Given the description of an element on the screen output the (x, y) to click on. 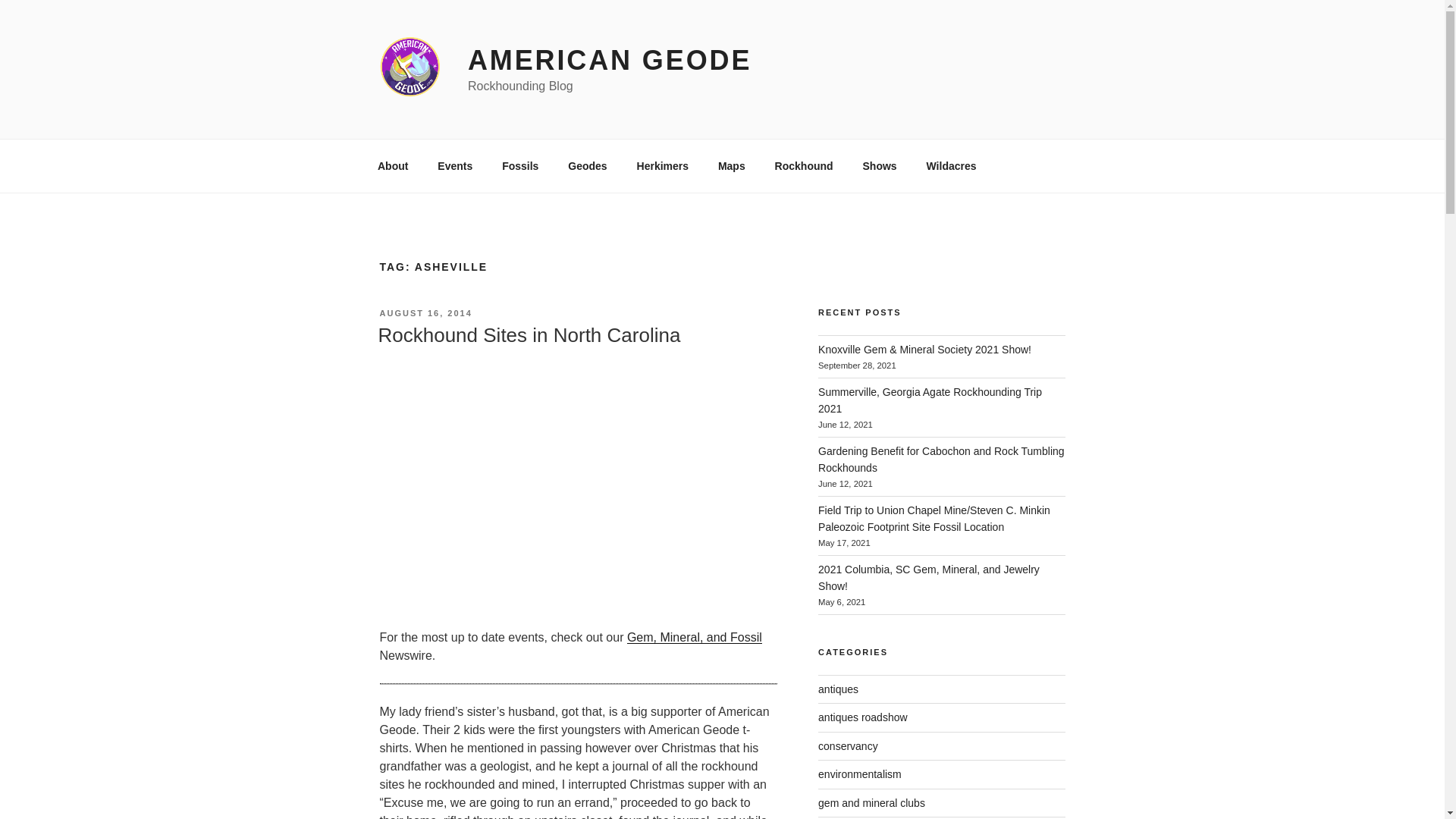
Geodes (587, 165)
Fossils (520, 165)
Wildacres (951, 165)
antiques roadshow (862, 717)
Fossils (520, 165)
conservancy (847, 746)
About (392, 165)
Gem, Mineral, and Fossil Shows (694, 636)
Rockhound Sites in North Carolina (528, 334)
Rockhound (803, 165)
AUGUST 16, 2014 (424, 312)
Herkimers (662, 165)
Summerville, Georgia Agate Rockhounding Trip 2021 (930, 399)
environmentalism (859, 774)
AMERICAN GEODE (609, 60)
